Given the description of an element on the screen output the (x, y) to click on. 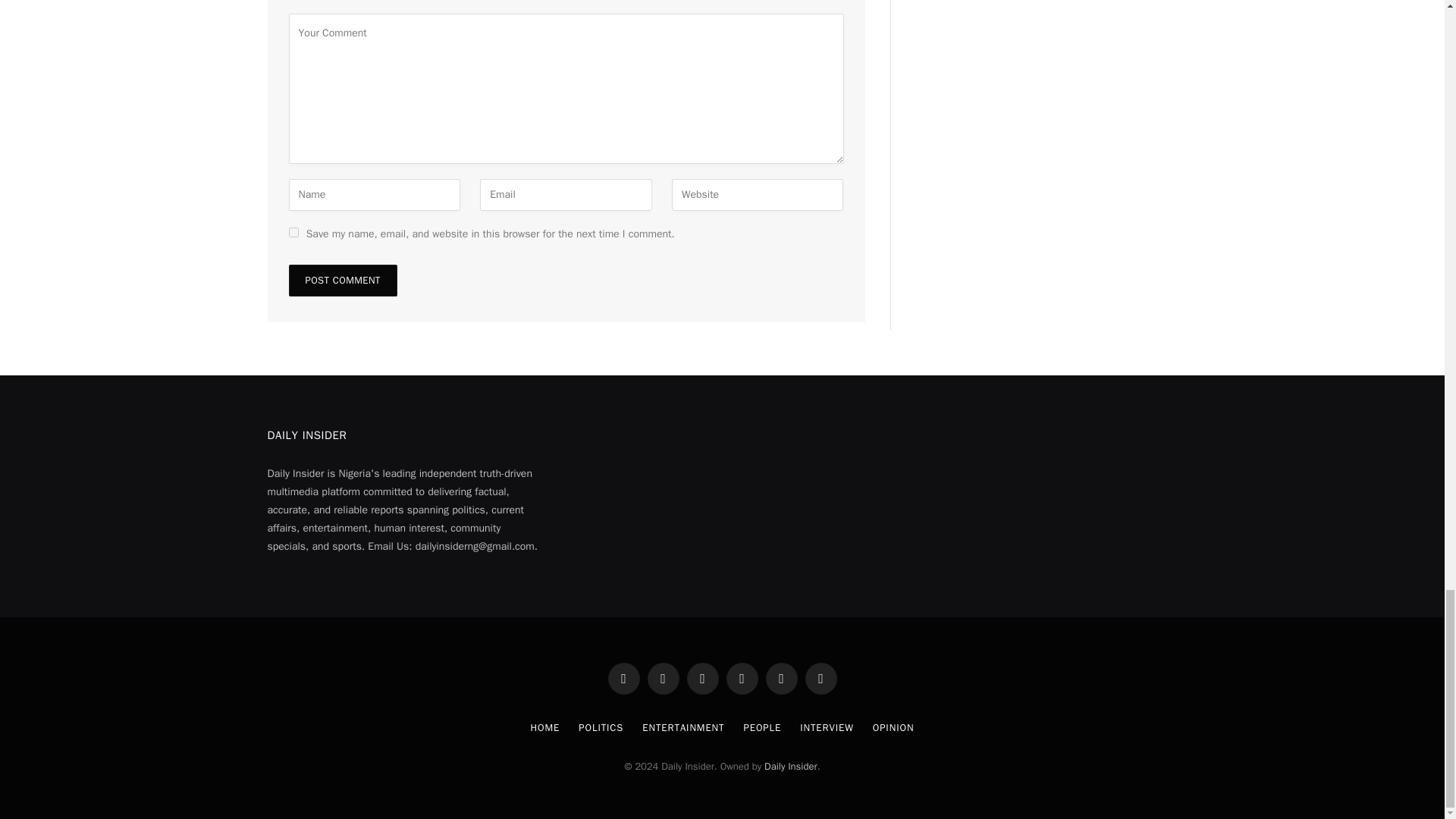
yes (293, 232)
Post Comment (342, 280)
